Given the description of an element on the screen output the (x, y) to click on. 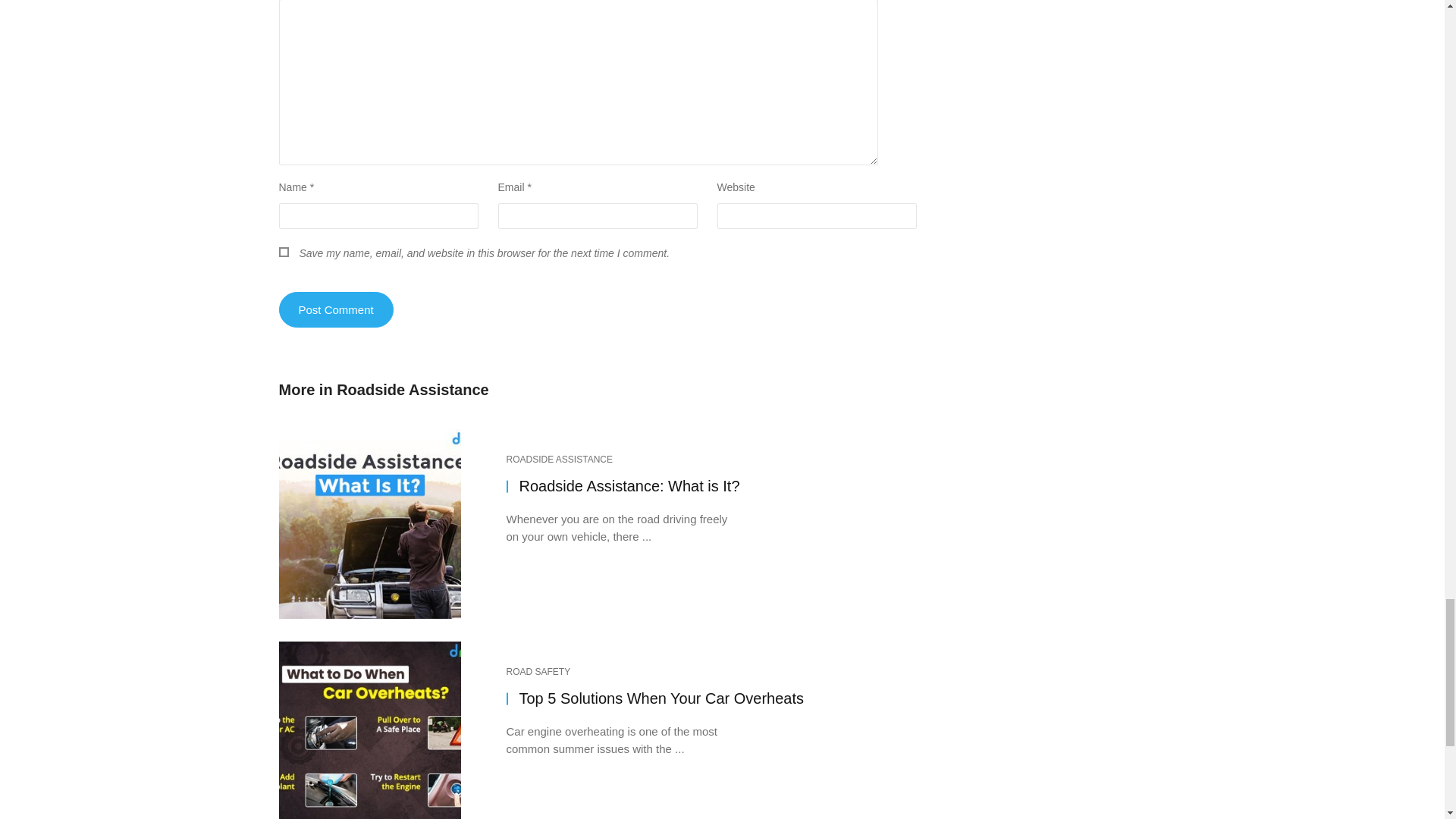
yes (283, 252)
Post Comment (336, 308)
